Given the description of an element on the screen output the (x, y) to click on. 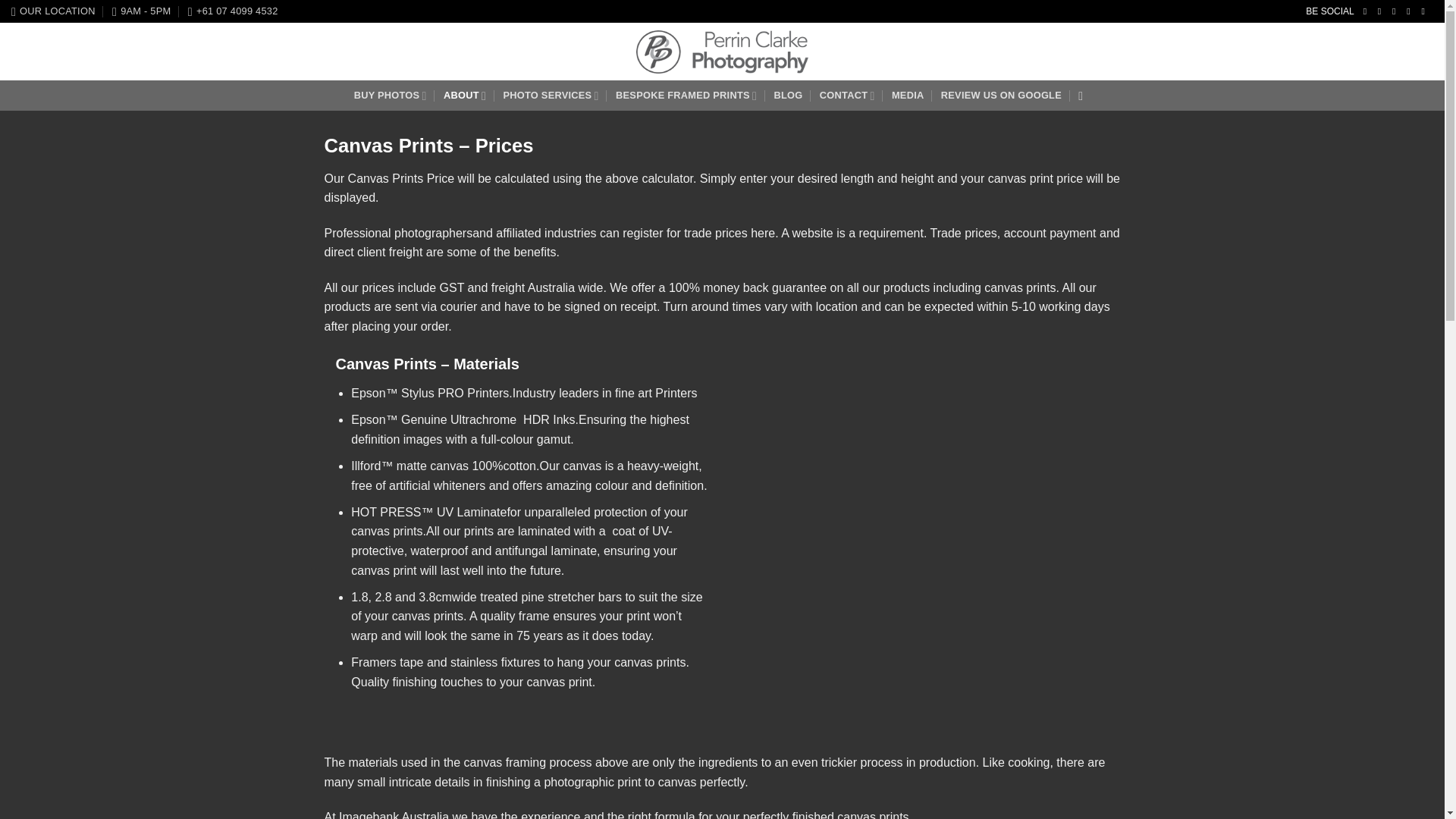
ABOUT (465, 95)
OUR LOCATION (53, 11)
9AM - 5PM (141, 11)
Cart (1389, 51)
PHOTO SERVICES (550, 95)
Perrin Clarke Photography (722, 52)
Newsletter (1232, 51)
NEWSLETTER (1232, 51)
Login (1309, 51)
BUY PHOTOS (389, 95)
